Given the description of an element on the screen output the (x, y) to click on. 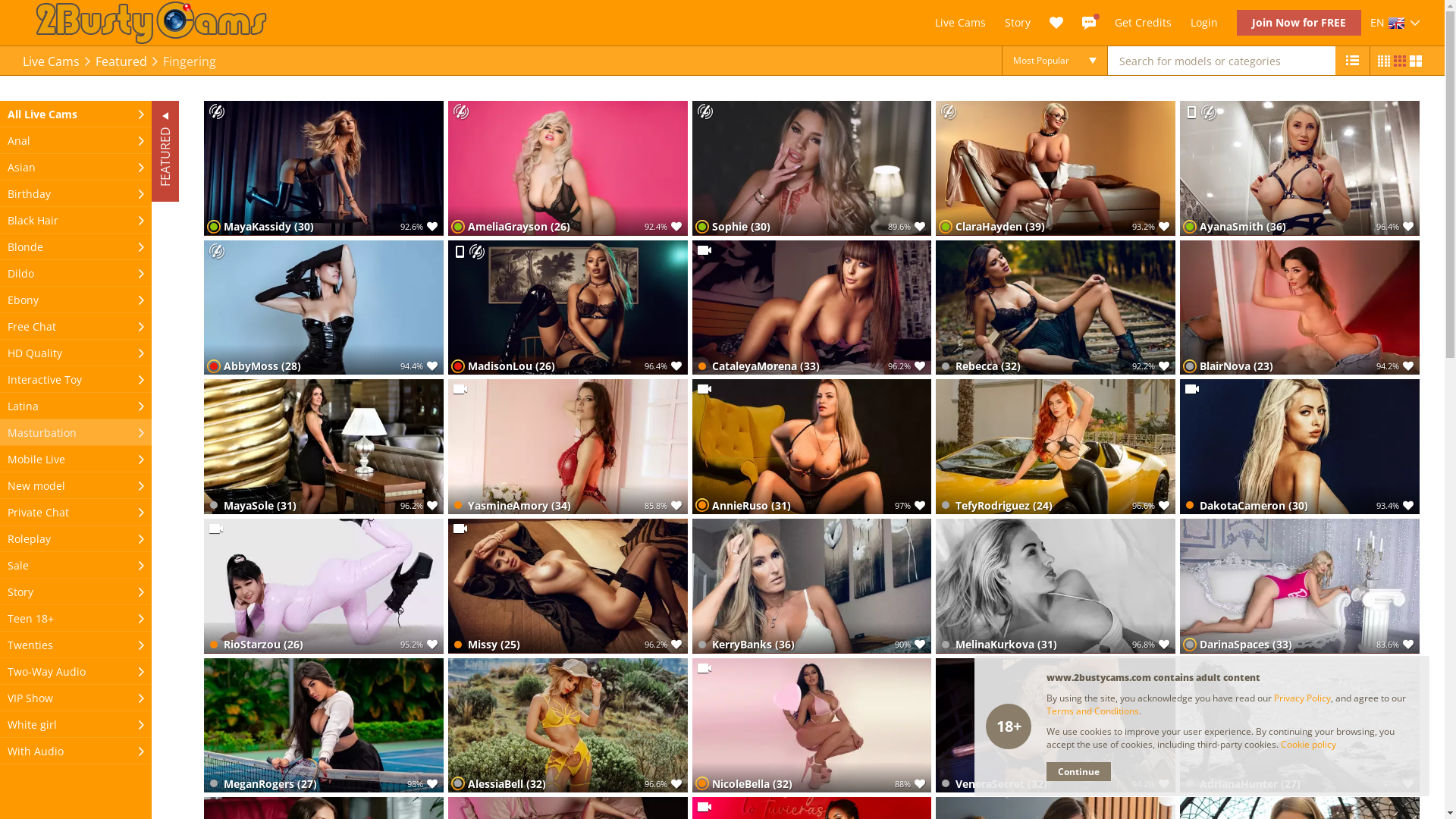
Live Cams Element type: text (960, 22)
New model Element type: text (75, 485)
With Audio Element type: text (75, 750)
VideoCall Element type: hover (1191, 388)
Story Element type: text (1017, 22)
Privacy Policy Element type: text (1302, 697)
VideoCall Element type: hover (460, 388)
Terms and Conditions Element type: text (1092, 710)
Most Popular Element type: text (1054, 60)
Continue Element type: text (1078, 771)
Get Credits Element type: text (1142, 22)
MadisonLou (26)
96.4% Element type: text (567, 307)
Twenties Element type: text (75, 644)
Featured Element type: text (121, 61)
AyanaSmith (36)
96.4% Element type: text (1299, 167)
TefyRodriguez (24)
96.6% Element type: text (1055, 446)
Free Chat Element type: text (75, 326)
VeneraSecret (32)
94.2% Element type: text (1055, 725)
Dildo Element type: text (75, 273)
Birthday Element type: text (75, 193)
Mobile Live Element type: hover (459, 251)
Story Element type: text (75, 591)
Rebecca (32)
92.2% Element type: text (1055, 307)
MayaKassidy (30)
92.6% Element type: text (323, 167)
ClaraHayden (39)
93.2% Element type: text (1055, 167)
NicoleBella (32)
88% Element type: text (811, 725)
All Live Cams Element type: text (75, 113)
Mobile Live Element type: hover (1191, 111)
HD Quality Element type: text (75, 352)
White girl Element type: text (75, 724)
RioStarzou (26)
95.2% Element type: text (323, 585)
Sophie (30)
89.6% Element type: text (811, 167)
Latina Element type: text (75, 405)
VideoCall Element type: hover (704, 667)
AmeliaGrayson (26)
92.4% Element type: text (567, 167)
Sale Element type: text (75, 565)
Cookie policy Element type: text (1308, 743)
Login Element type: text (1203, 22)
AlessiaBell (32)
96.6% Element type: text (567, 725)
Live Cams Element type: text (50, 61)
BlairNova (23)
94.2% Element type: text (1299, 307)
AdrianaHunter (27)
97% Element type: text (1299, 725)
Missy (25)
96.2% Element type: text (567, 585)
KerryBanks (36)
90% Element type: text (811, 585)
AnnieRuso (31)
97% Element type: text (811, 446)
Roleplay Element type: text (75, 538)
MelinaKurkova (31)
96.8% Element type: text (1055, 585)
FEATURED Element type: text (201, 114)
Masturbation Element type: text (75, 432)
Black Hair Element type: text (75, 220)
VideoCall Element type: hover (215, 527)
YasmineAmory (34)
85.8% Element type: text (567, 446)
VideoCall Element type: hover (460, 527)
VideoCall Element type: hover (704, 806)
AbbyMoss (28)
94.4% Element type: text (323, 307)
VideoCall Element type: hover (704, 249)
Two-Way Audio Element type: text (75, 671)
VIP Show Element type: text (75, 697)
MeganRogers (27)
98% Element type: text (323, 725)
Anal Element type: text (75, 140)
Messages Element type: hover (1088, 22)
Interactive Toy Element type: text (75, 379)
Private Chat Element type: text (75, 511)
DarinaSpaces (33)
83.6% Element type: text (1299, 585)
VideoCall Element type: hover (704, 388)
DakotaCameron (30)
93.4% Element type: text (1299, 446)
Ebony Element type: text (75, 299)
CataleyaMorena (33)
96.2% Element type: text (811, 307)
Mobile Live Element type: text (75, 458)
Join Now for FREE Element type: text (1298, 22)
Blonde Element type: text (75, 246)
Teen 18+ Element type: text (75, 618)
MayaSole (31)
96.2% Element type: text (323, 446)
Asian Element type: text (75, 166)
